Given the description of an element on the screen output the (x, y) to click on. 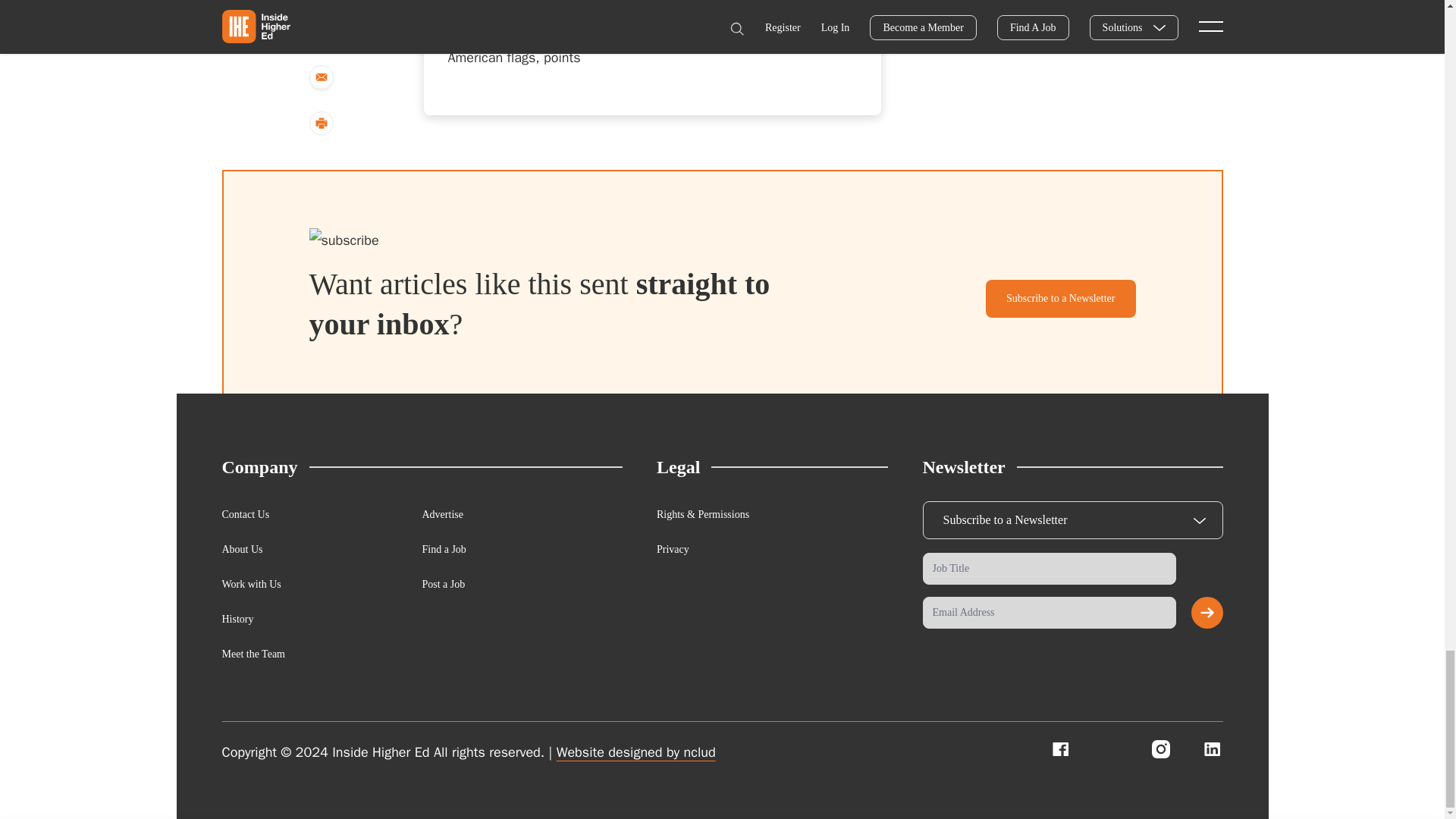
Submit (1207, 612)
